Given the description of an element on the screen output the (x, y) to click on. 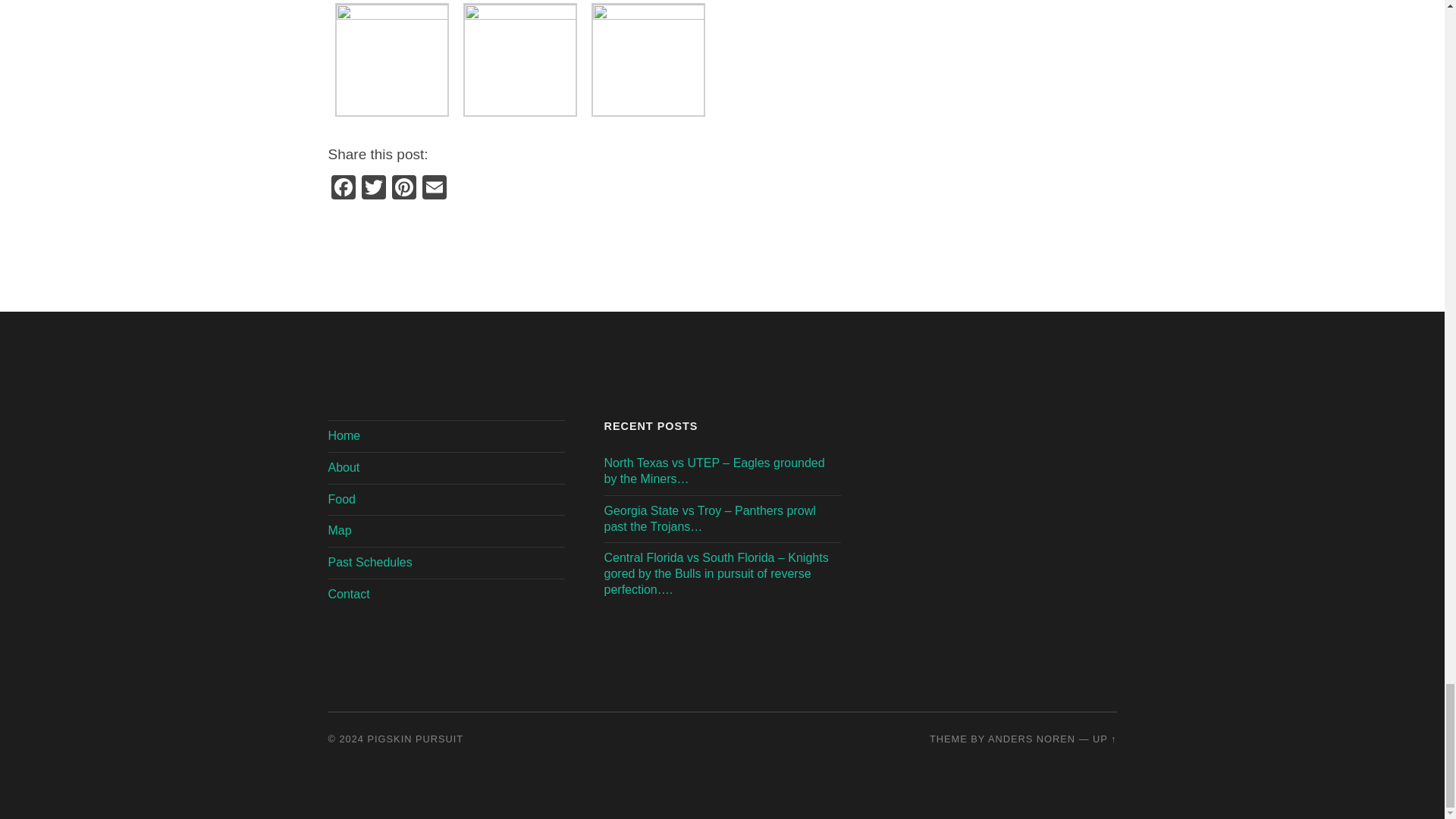
Facebook (342, 189)
Pinterest (403, 189)
To the top (1104, 738)
Email (433, 189)
Twitter (373, 189)
